Given the description of an element on the screen output the (x, y) to click on. 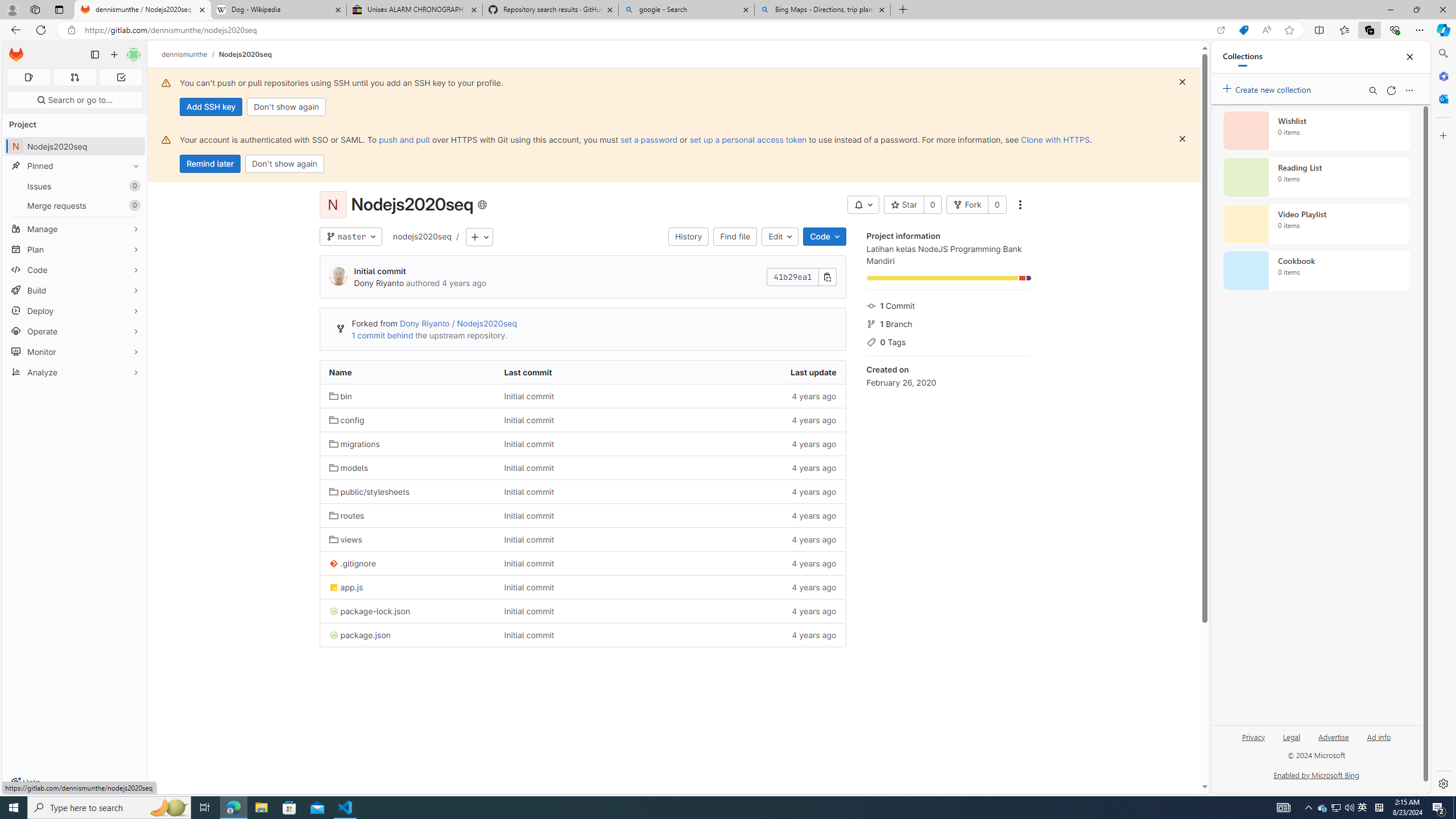
views (407, 539)
Class: s16 gl-alert-icon gl-alert-icon-no-title (165, 139)
 Star (903, 204)
Class: s16 gl-icon gl-button-icon  (1181, 138)
1 Branch (948, 322)
package.json (407, 634)
models (348, 467)
AutomationID: __BVID__356__BV_toggle_ (863, 204)
0 Tags (948, 340)
NNodejs2020seq (74, 145)
